Given the description of an element on the screen output the (x, y) to click on. 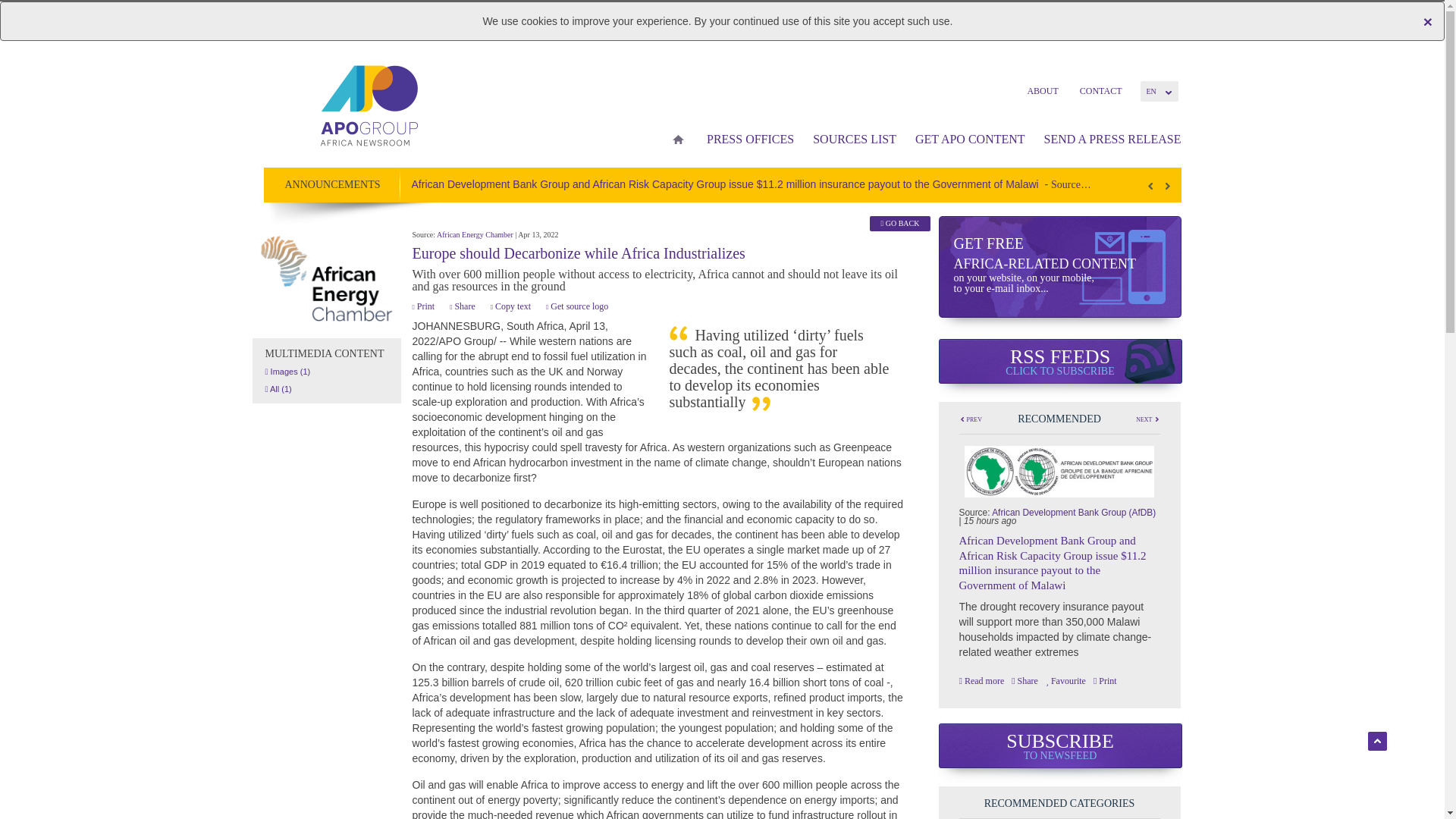
EN (1158, 91)
GET APO CONTENT (968, 139)
CONTACT (1100, 90)
PRESS OFFICES (748, 139)
SEND A PRESS RELEASE (1106, 139)
SOURCES LIST (853, 139)
See more news from this source (325, 279)
ABOUT (1042, 90)
